Given the description of an element on the screen output the (x, y) to click on. 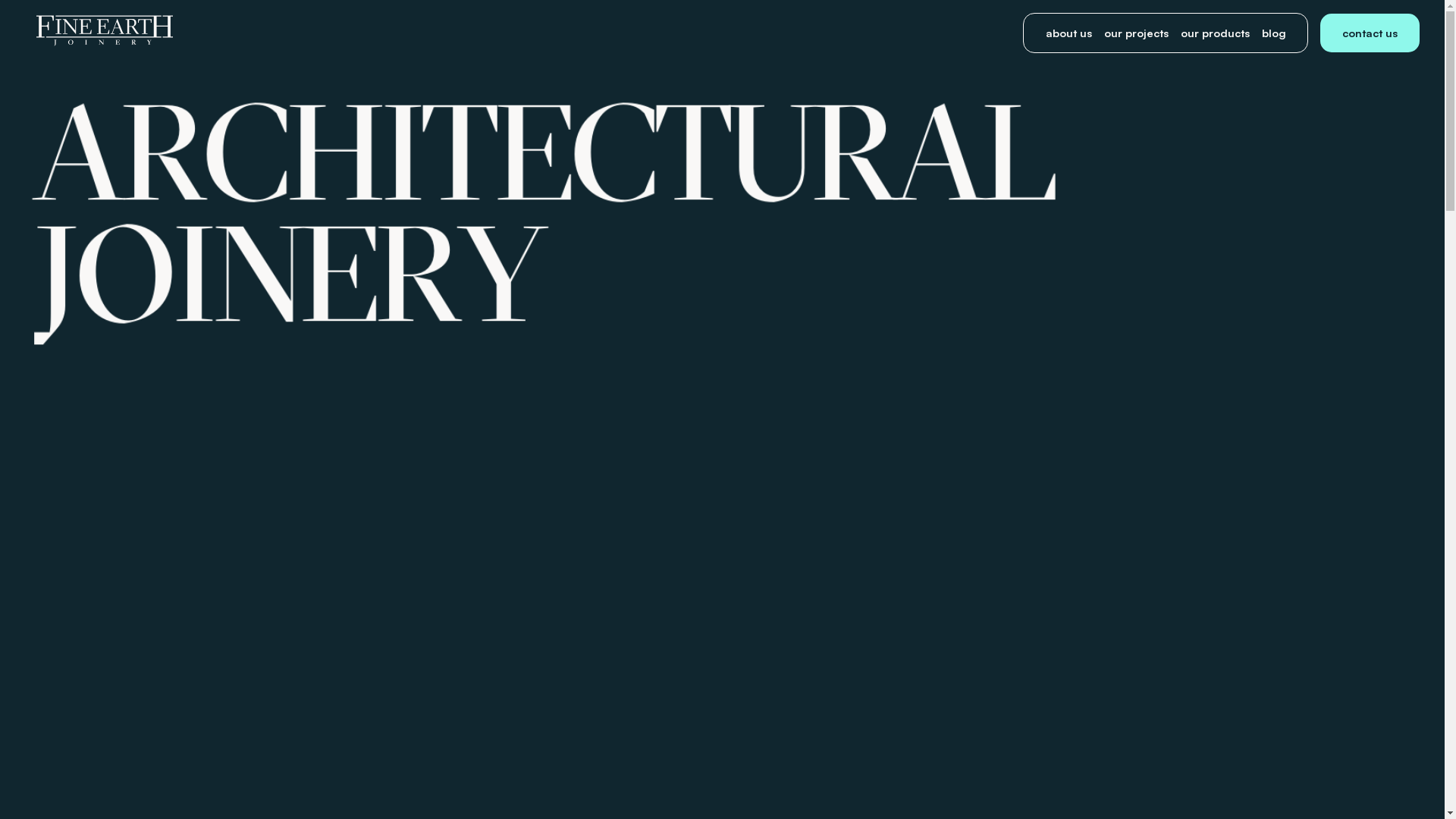
our products Element type: text (1214, 33)
our projects Element type: text (1136, 33)
about us Element type: text (1068, 33)
blog Element type: text (1273, 33)
contact us Element type: text (1369, 32)
